Given the description of an element on the screen output the (x, y) to click on. 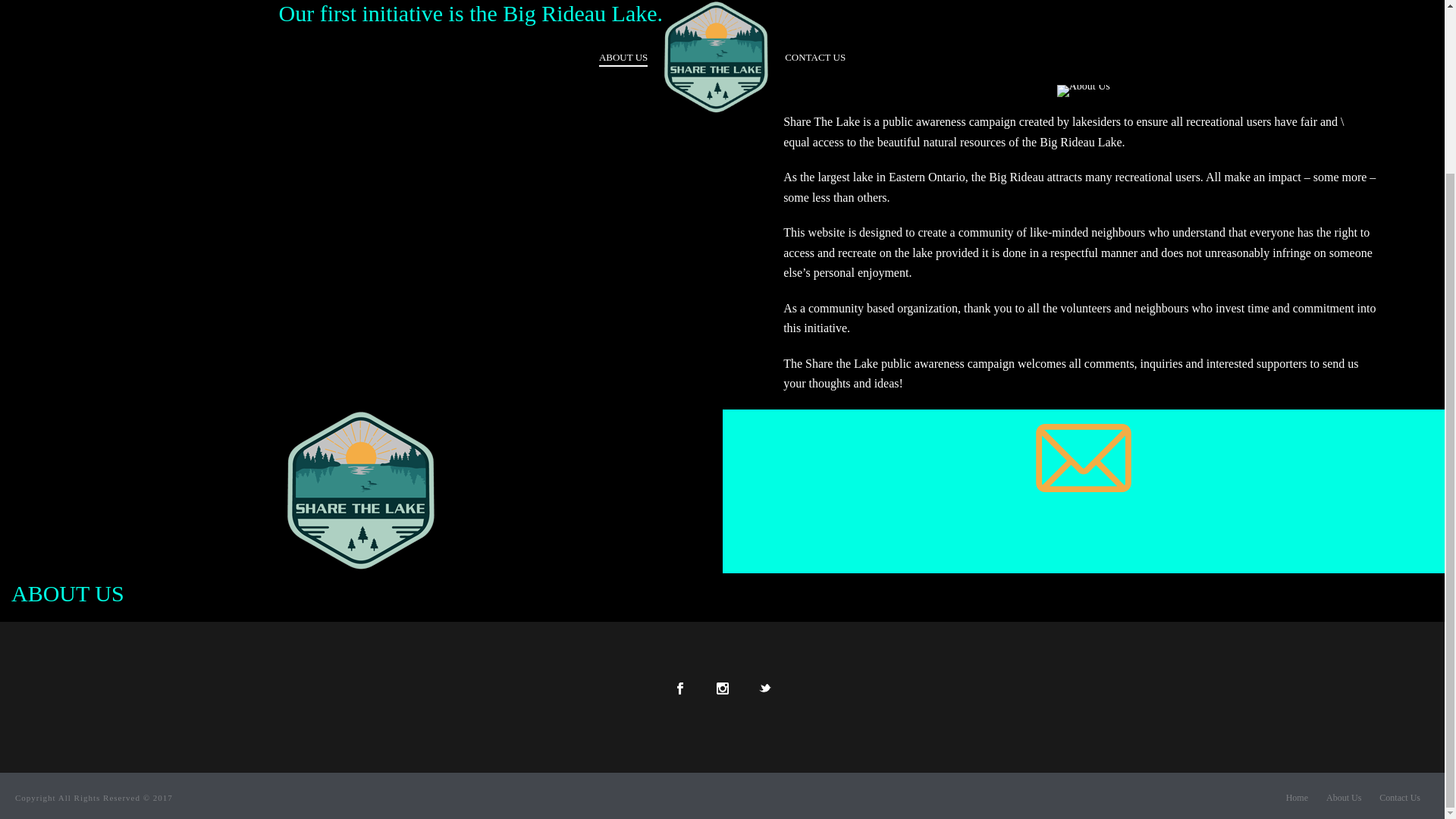
Home (1296, 797)
About Us (360, 489)
About Us (1083, 91)
Contact Us (1399, 797)
About Us (1343, 797)
